Given the description of an element on the screen output the (x, y) to click on. 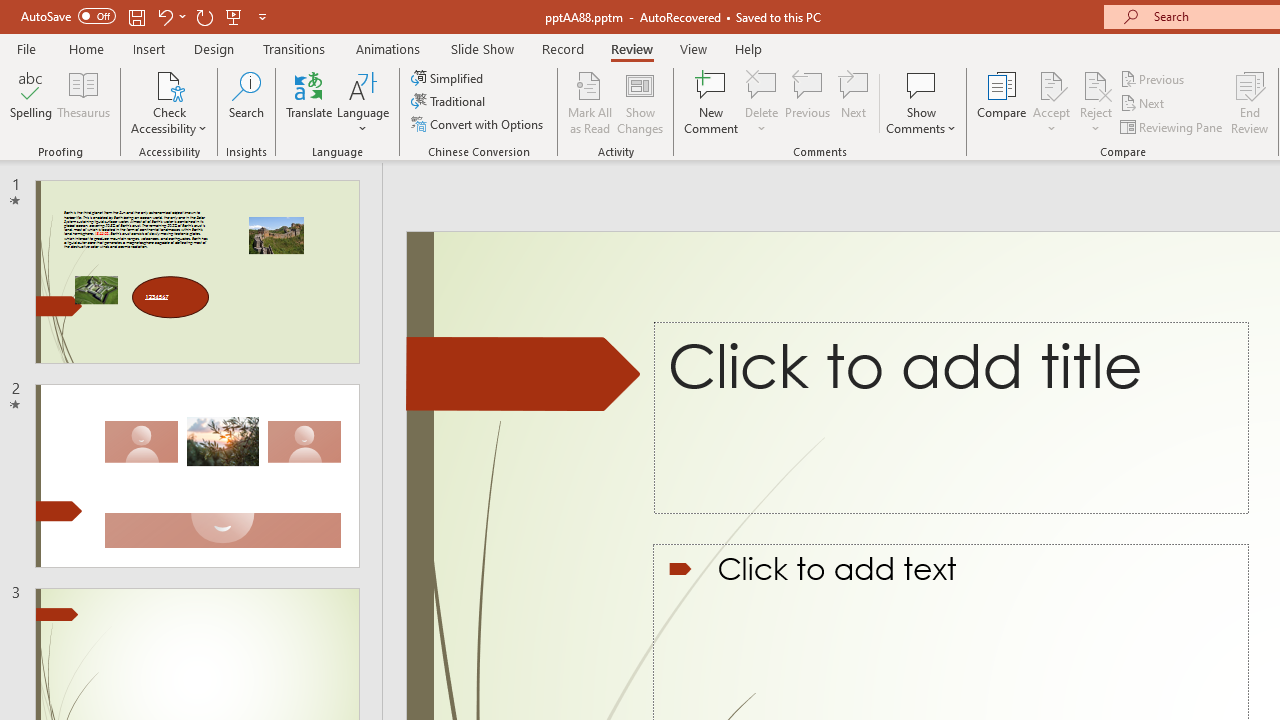
Check Accessibility (169, 102)
Accept Change (1051, 84)
